Given the description of an element on the screen output the (x, y) to click on. 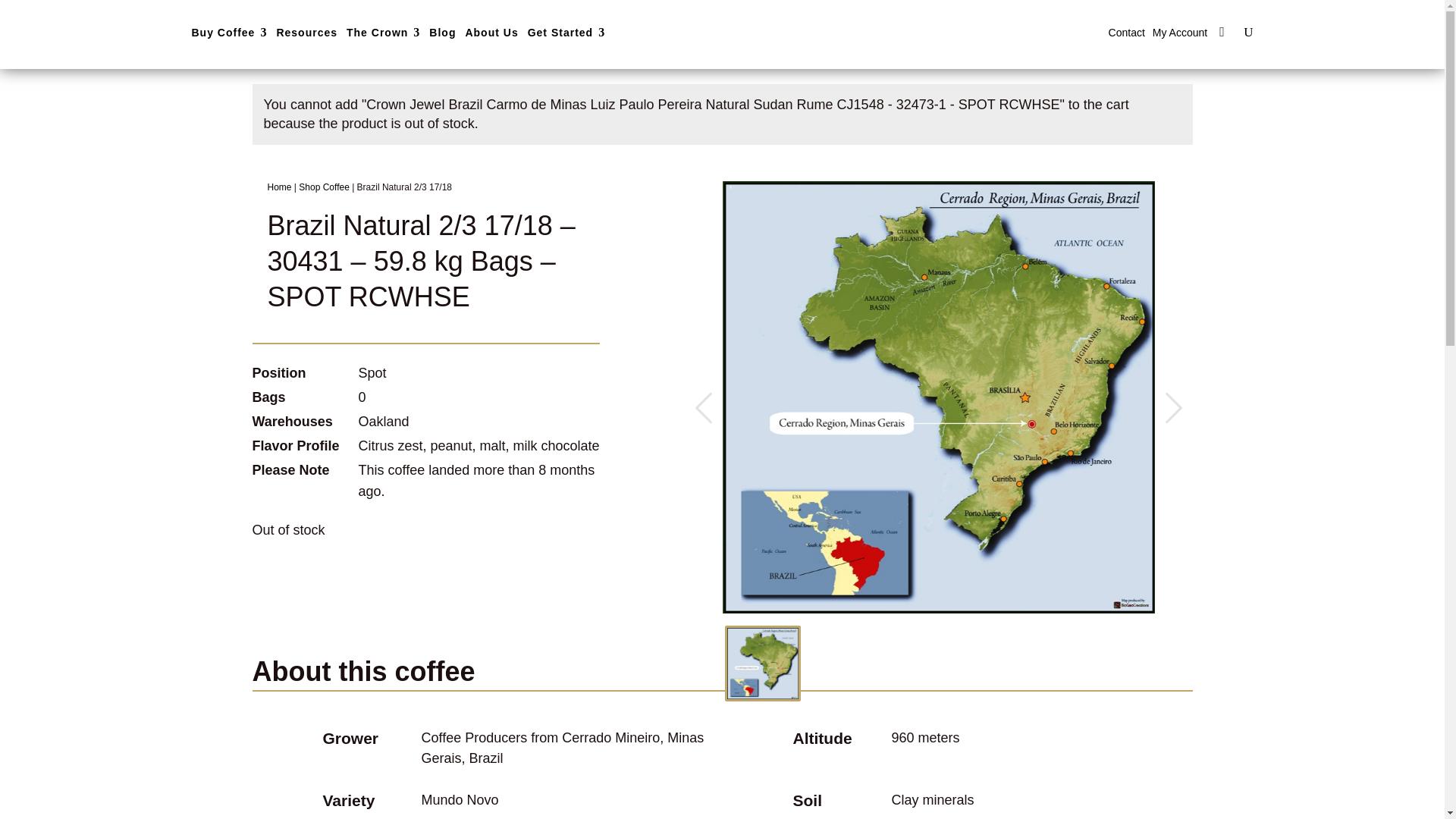
Resources (306, 32)
The Crown (383, 32)
Buy Coffee (228, 32)
